Given the description of an element on the screen output the (x, y) to click on. 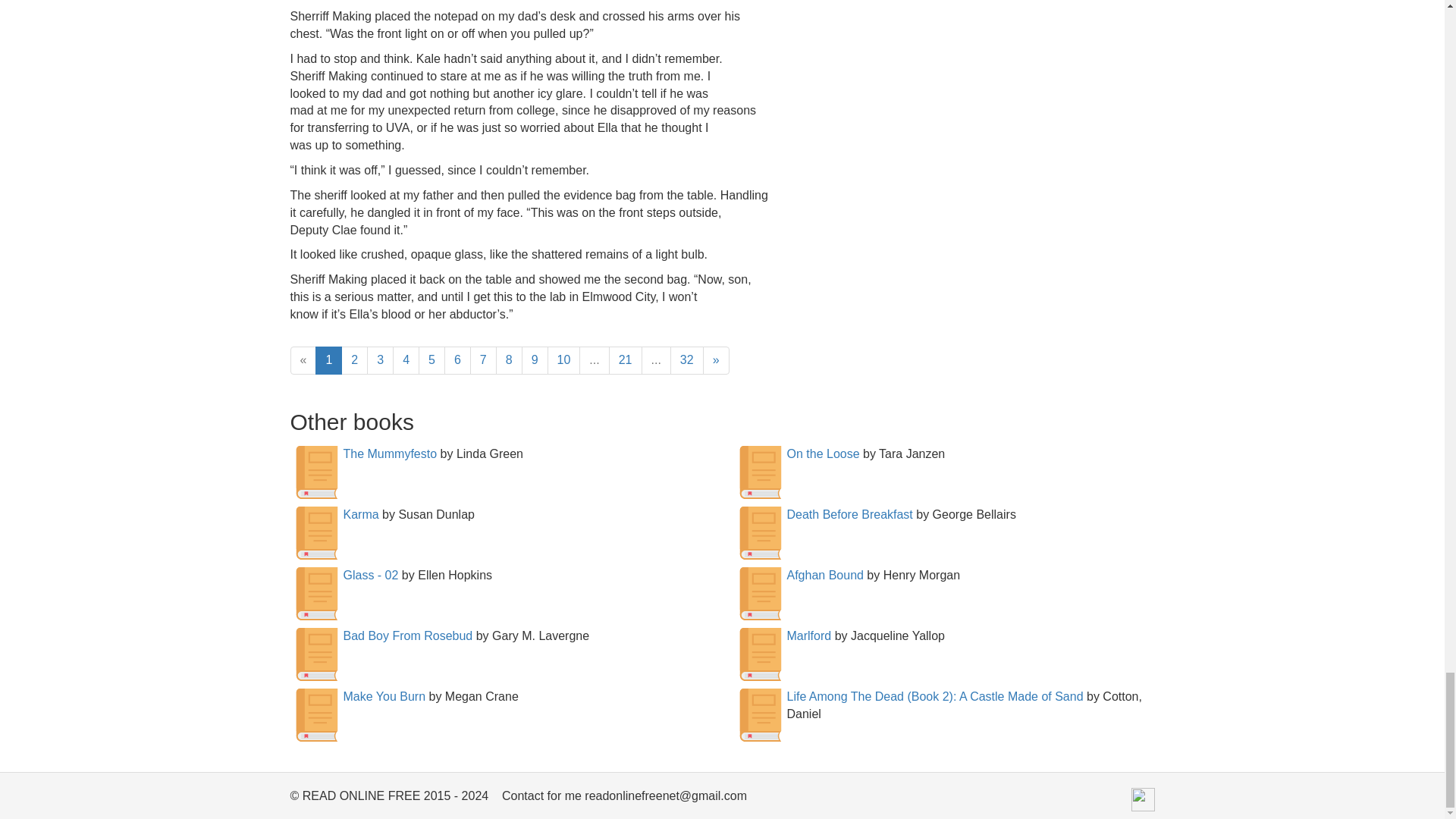
The Mummyfesto (389, 453)
4 (406, 360)
8 (509, 360)
Karma (360, 513)
5 (432, 360)
3 (379, 360)
Afghan Bound (825, 574)
1 (328, 360)
10 (563, 360)
Death Before Breakfast (849, 513)
